Given the description of an element on the screen output the (x, y) to click on. 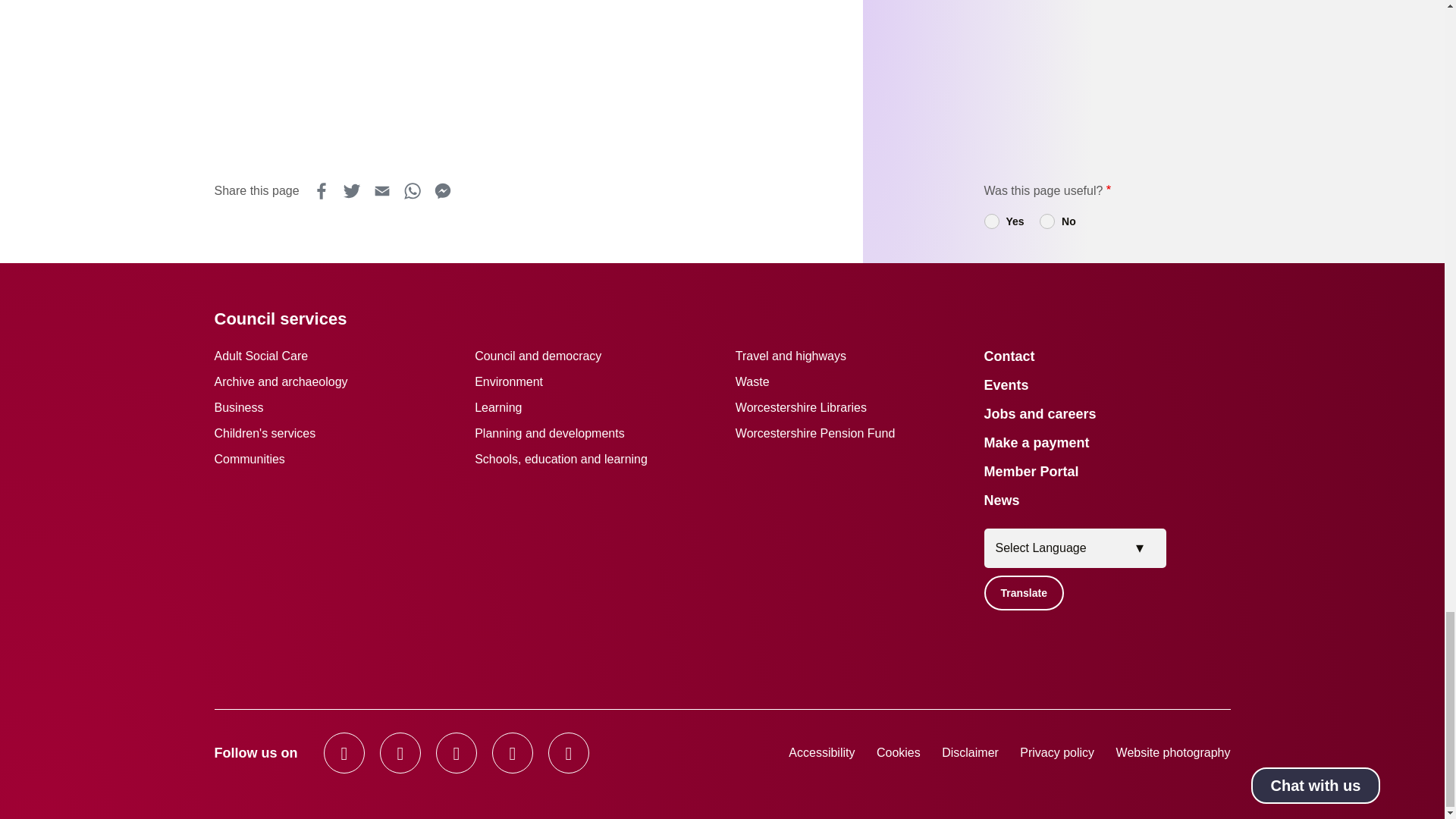
YouTube video player (548, 76)
Website Language Selector (1075, 548)
